Given the description of an element on the screen output the (x, y) to click on. 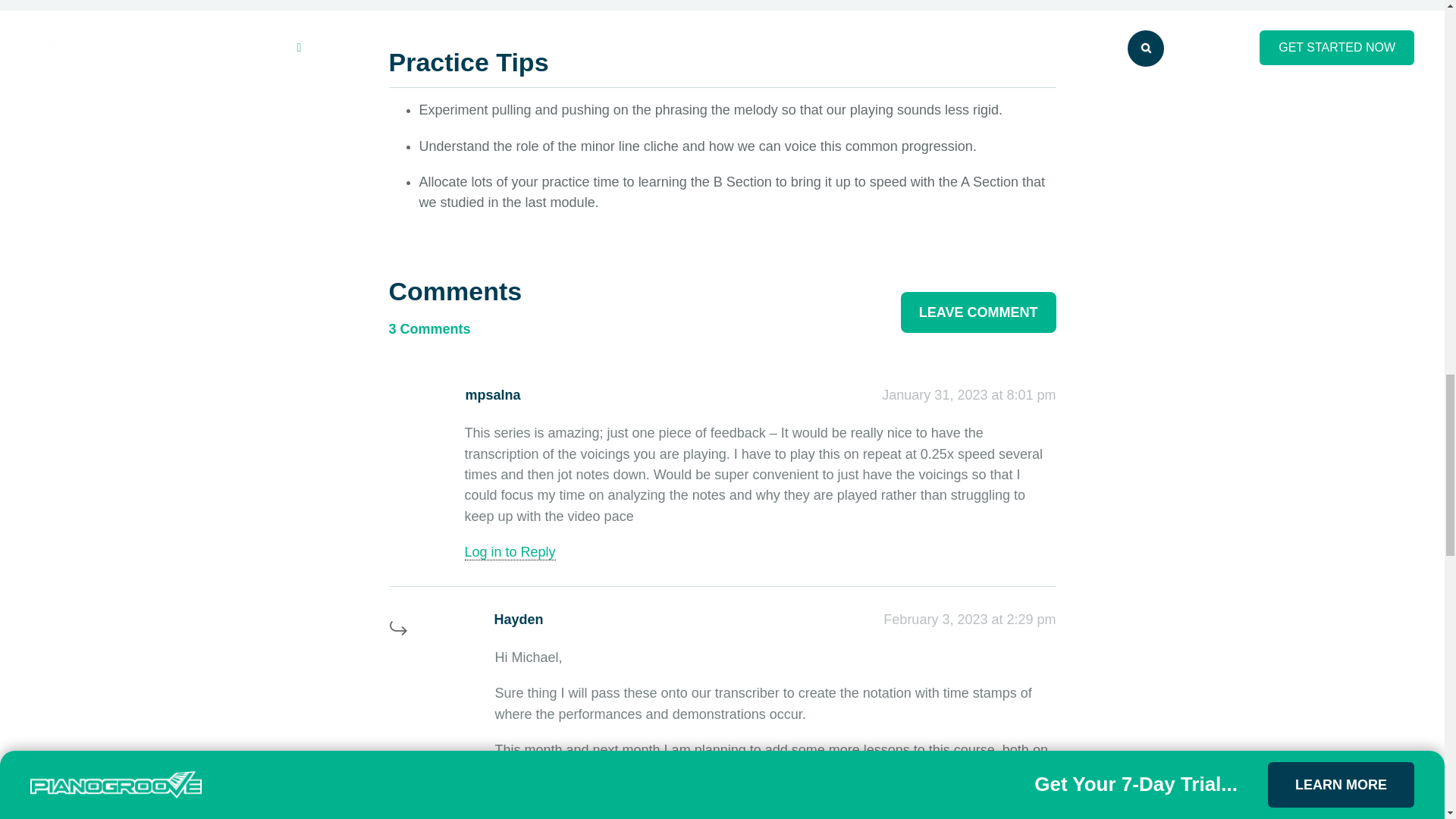
Log in to Reply (509, 552)
LEAVE COMMENT (979, 311)
February 3, 2023 at 2:29 pm (969, 619)
January 31, 2023 at 8:01 pm (968, 394)
